Given the description of an element on the screen output the (x, y) to click on. 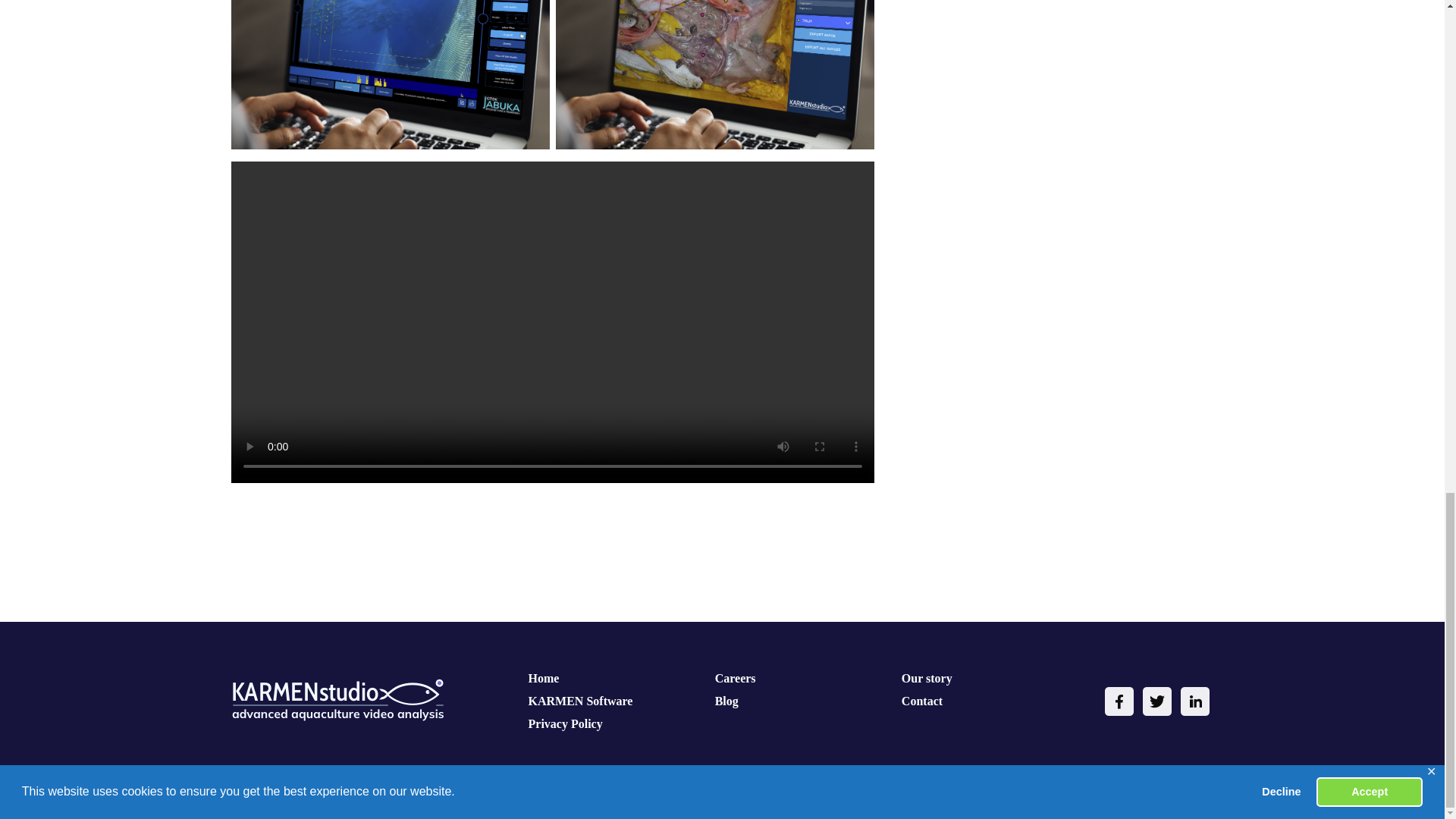
KARMEN Software (580, 700)
Home (543, 677)
Careers (734, 677)
Our story (926, 677)
